Given the description of an element on the screen output the (x, y) to click on. 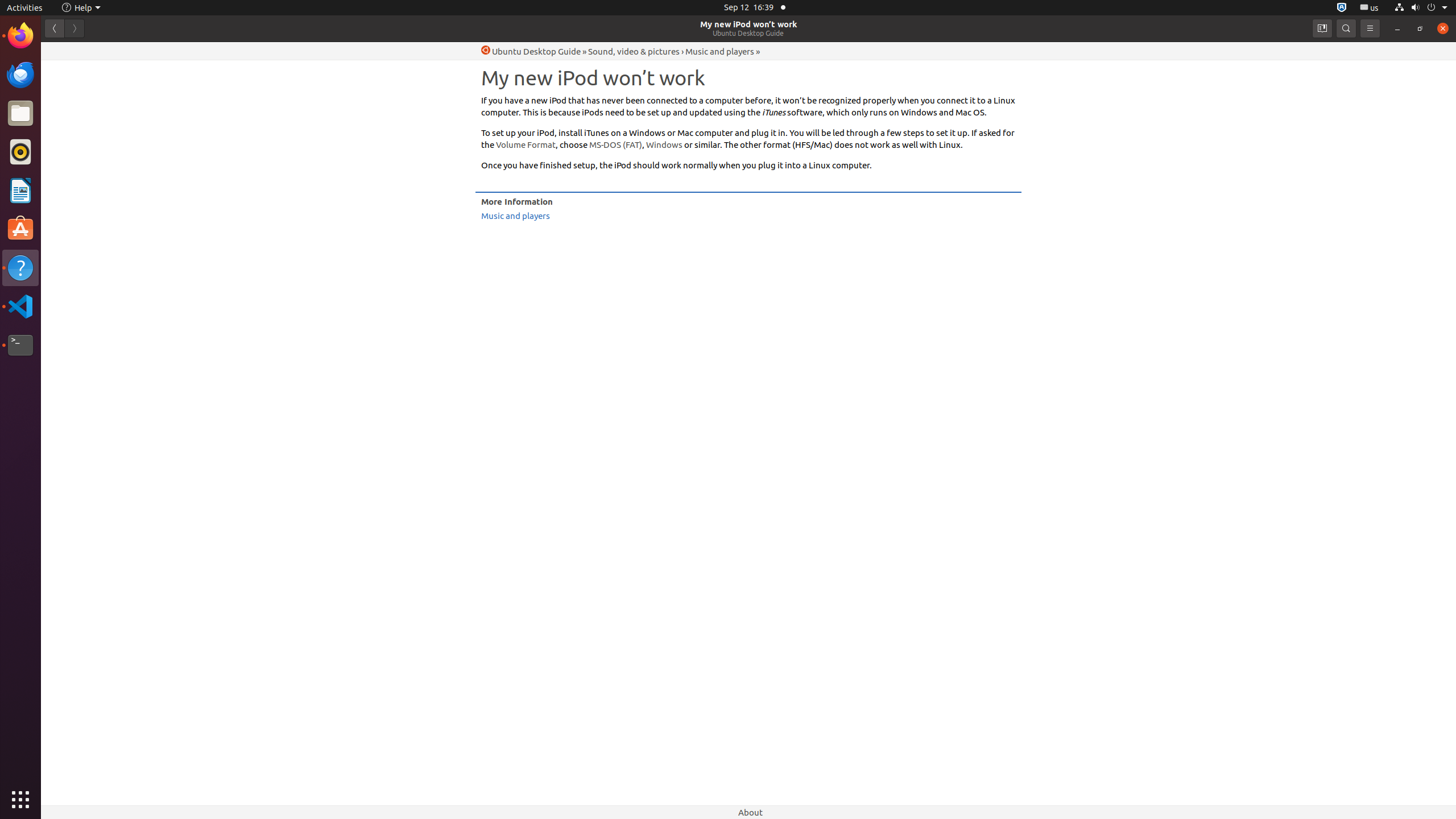
Close Element type: push-button (1442, 27)
My new iPod won’t work Element type: label (748, 24)
li.txt Element type: label (146, 50)
